Given the description of an element on the screen output the (x, y) to click on. 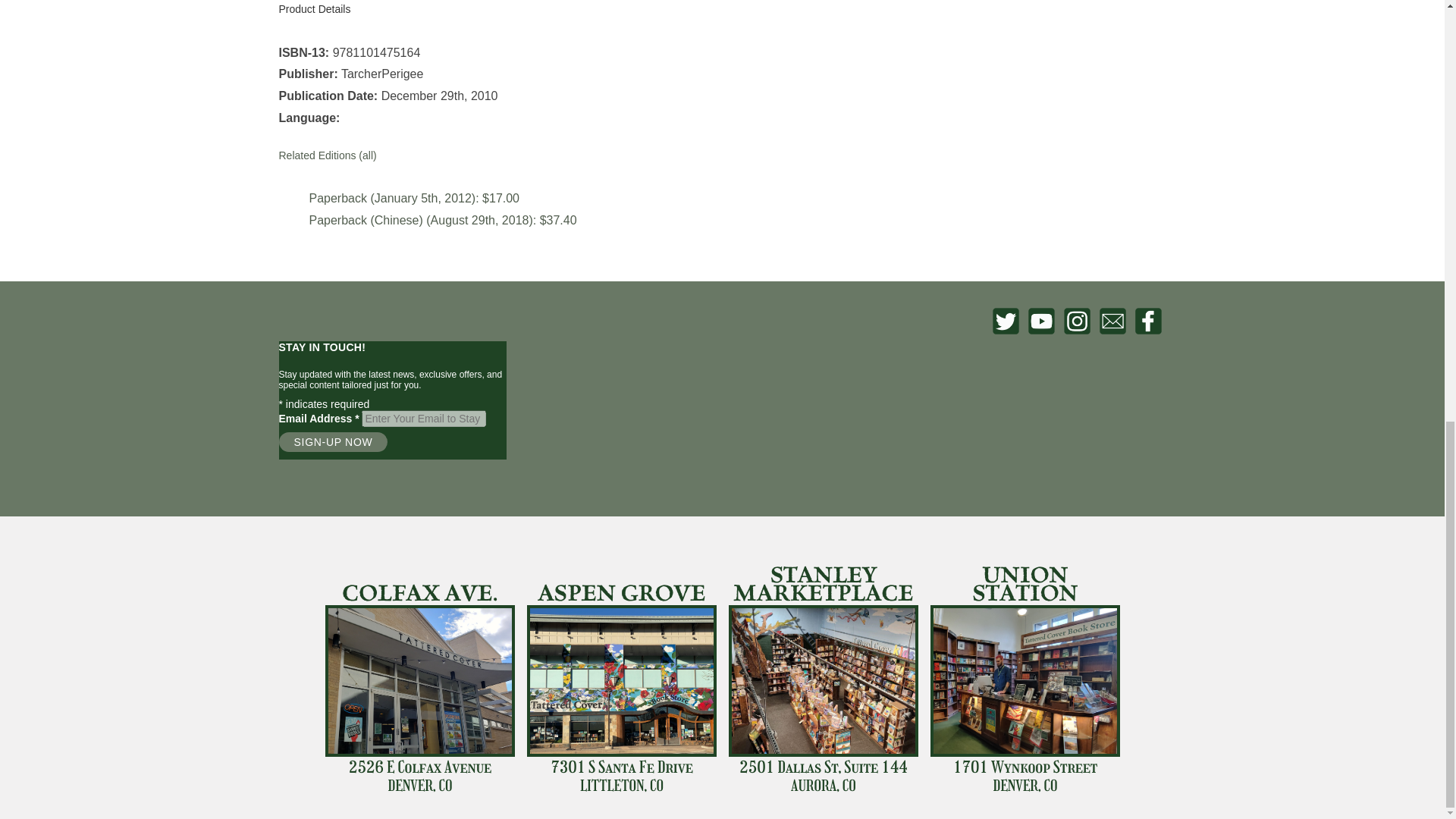
Sign-Up Now (333, 442)
